Given the description of an element on the screen output the (x, y) to click on. 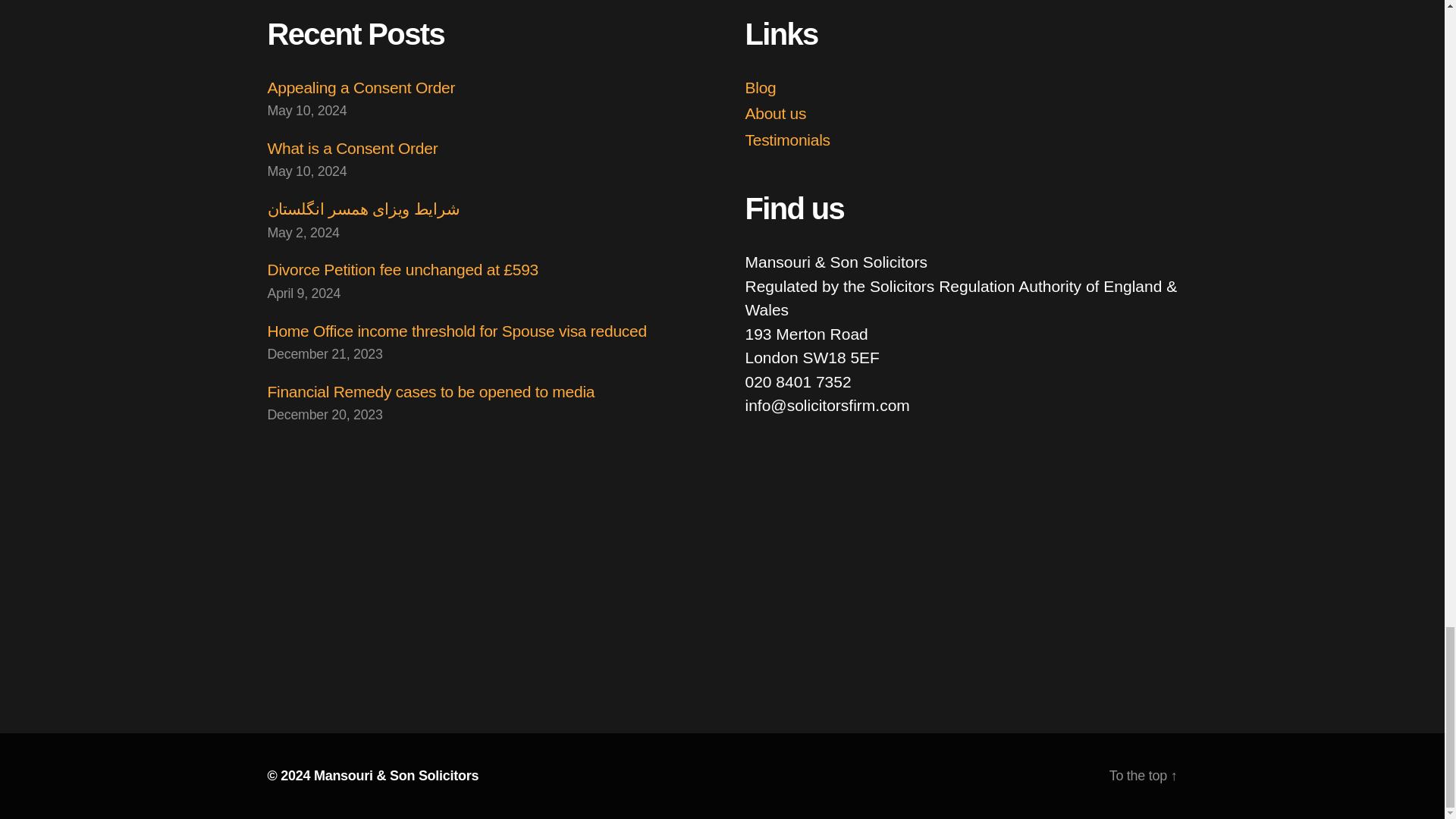
Appealing a Consent Order (360, 87)
solicitors regulation authority (848, 517)
